Given the description of an element on the screen output the (x, y) to click on. 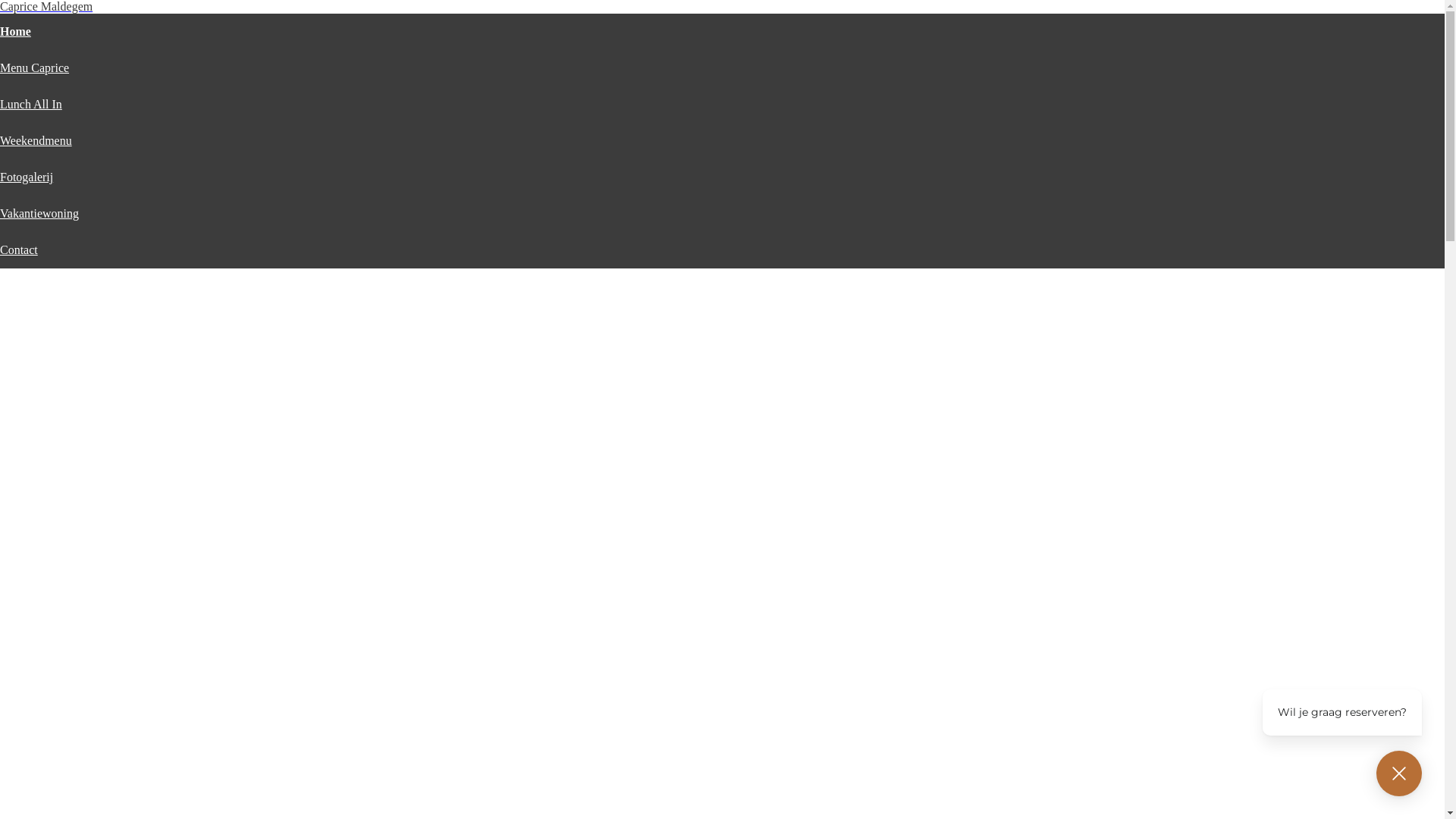
Menu Caprice Element type: text (34, 67)
Caprice Maldegem Element type: text (46, 6)
Vakantiewoning Element type: text (39, 213)
Lunch All In Element type: text (31, 103)
Weekendmenu Element type: text (36, 140)
Contact Element type: text (18, 249)
Home Element type: text (15, 31)
Fotogalerij Element type: text (26, 176)
